Given the description of an element on the screen output the (x, y) to click on. 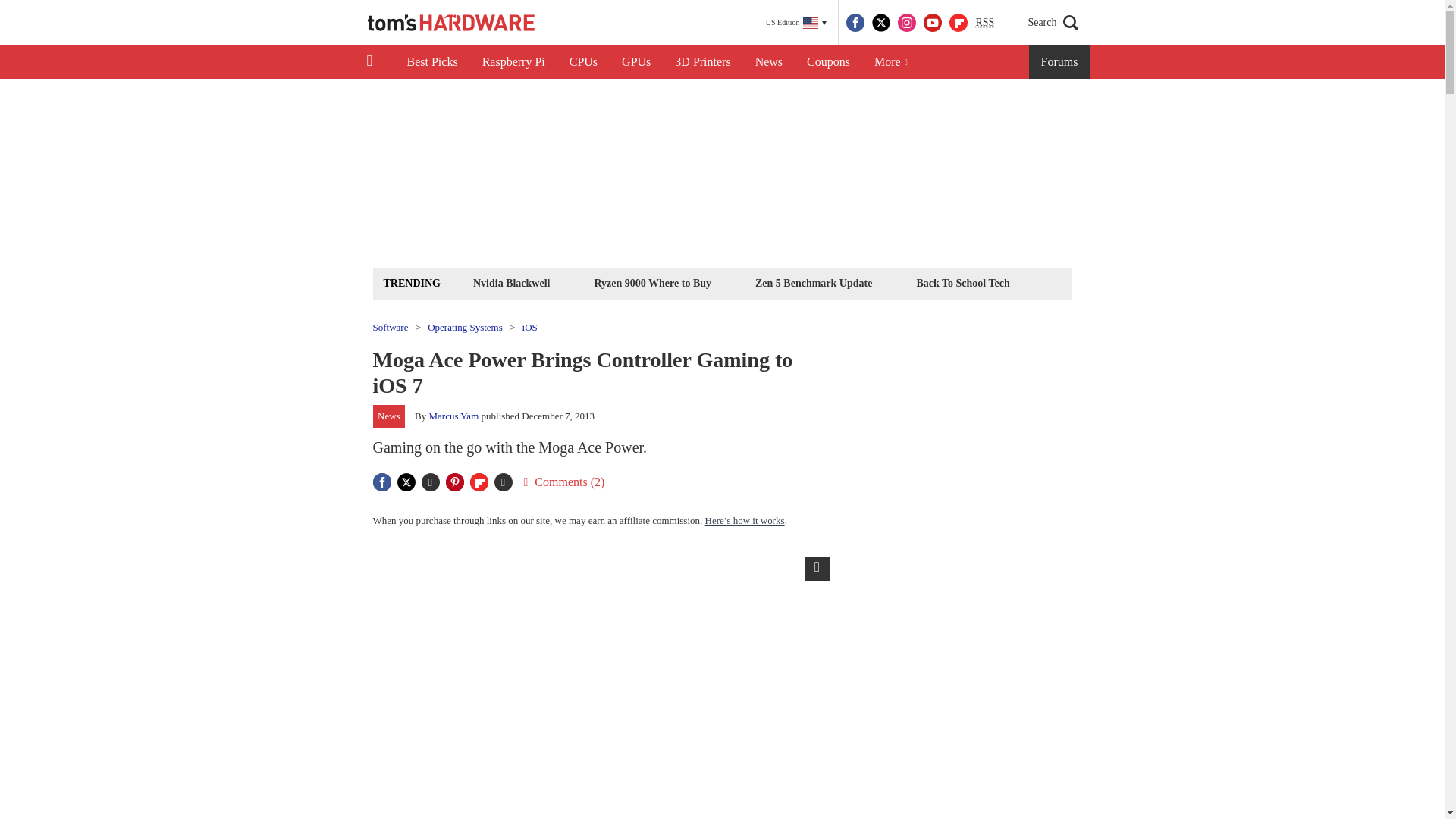
US Edition (796, 22)
Raspberry Pi (513, 61)
Coupons (827, 61)
CPUs (583, 61)
Forums (1059, 61)
RSS (984, 22)
Really Simple Syndication (984, 21)
News (768, 61)
GPUs (636, 61)
3D Printers (702, 61)
